Given the description of an element on the screen output the (x, y) to click on. 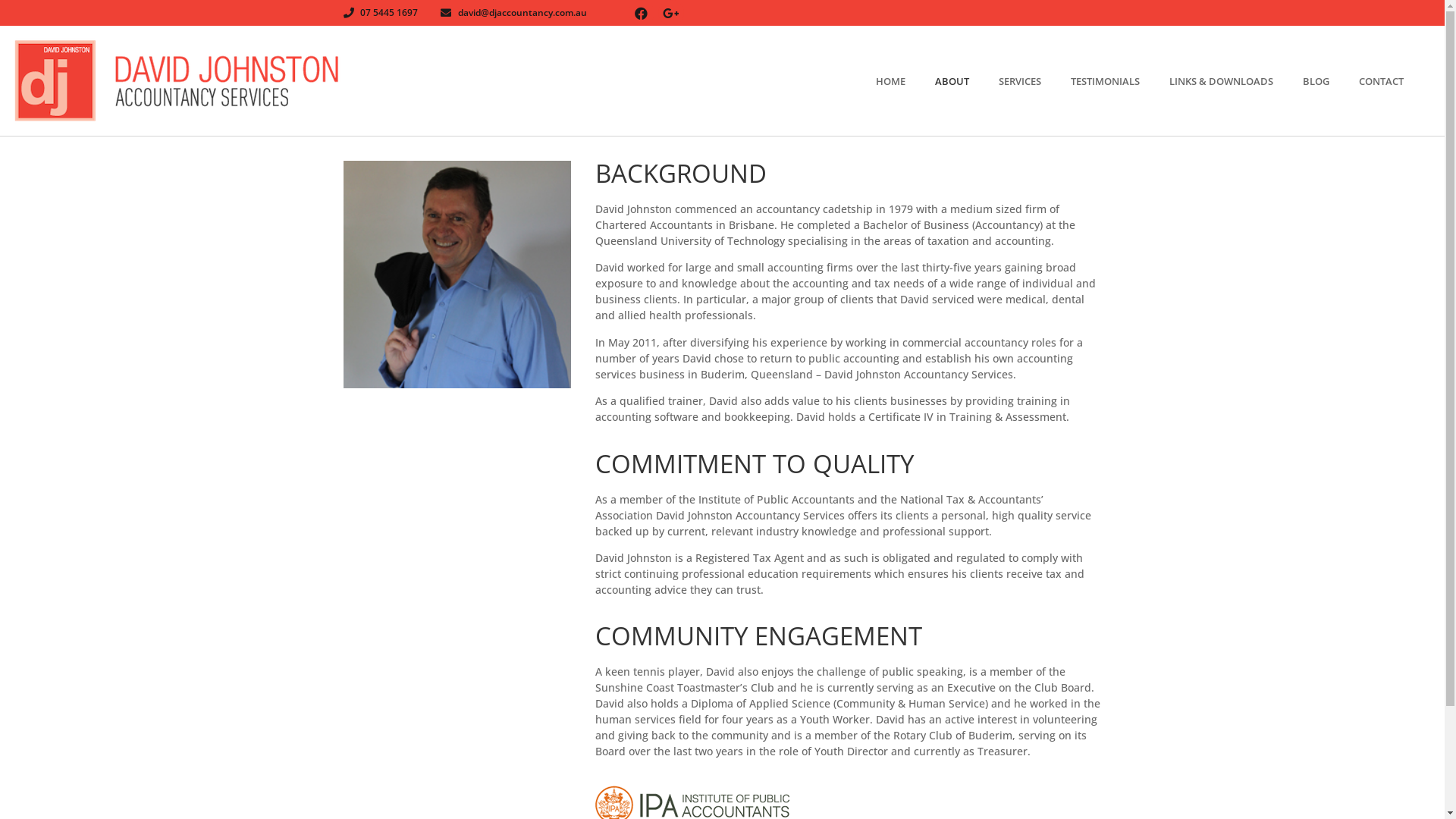
CONTACT Element type: text (1395, 81)
SERVICES Element type: text (1034, 81)
TESTIMONIALS Element type: text (1119, 81)
07 5445 1697 Element type: text (379, 12)
david@djaccountancy.com.au Element type: text (513, 12)
HOME Element type: text (905, 81)
ABOUT Element type: text (966, 81)
LINKS & DOWNLOADS Element type: text (1235, 81)
BLOG Element type: text (1330, 81)
